Given the description of an element on the screen output the (x, y) to click on. 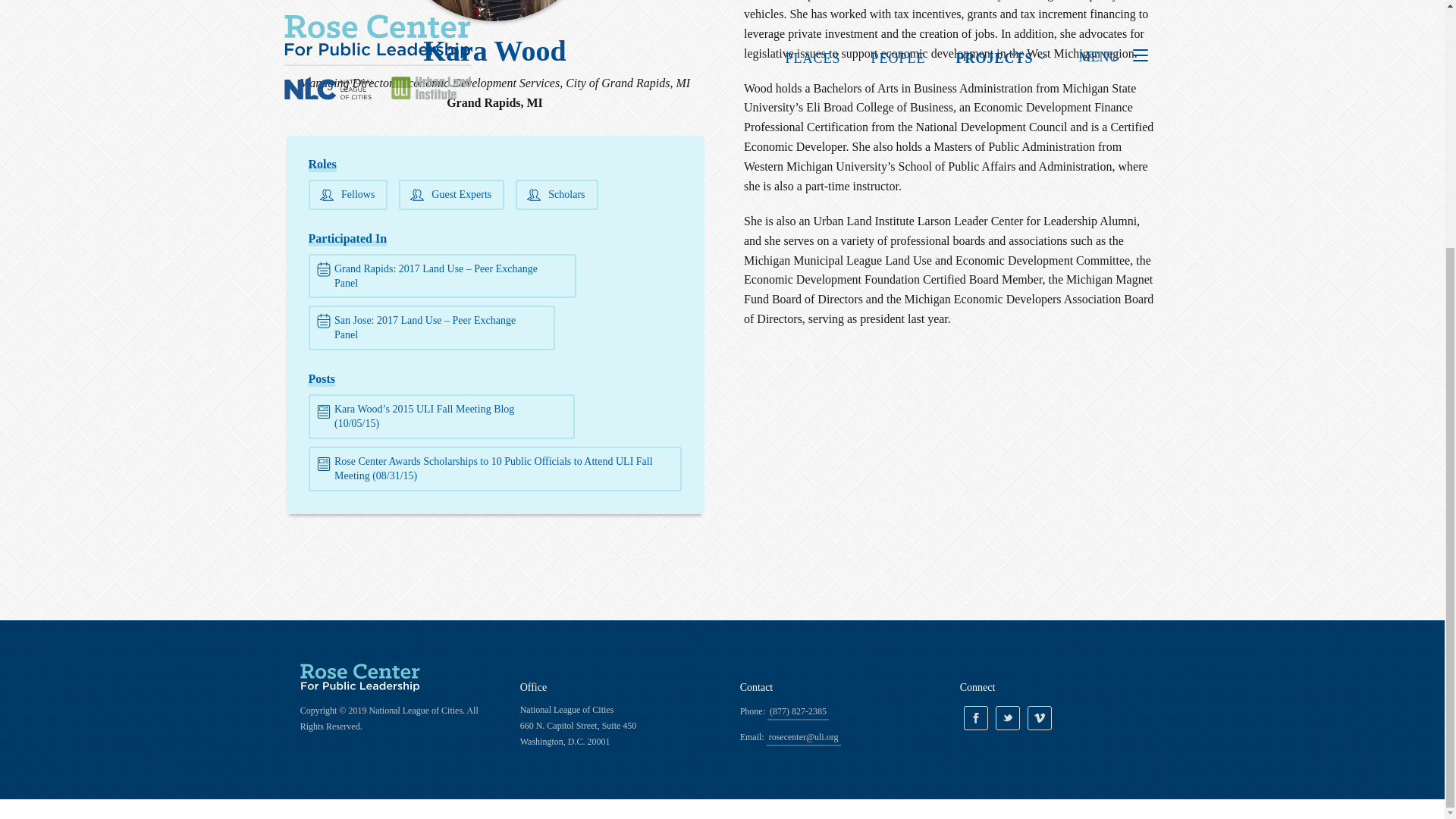
 twitter (1007, 717)
 vimeo (1039, 717)
Scholars (556, 194)
Guest Experts (450, 194)
 facebook (975, 717)
Fellows (347, 194)
